Given the description of an element on the screen output the (x, y) to click on. 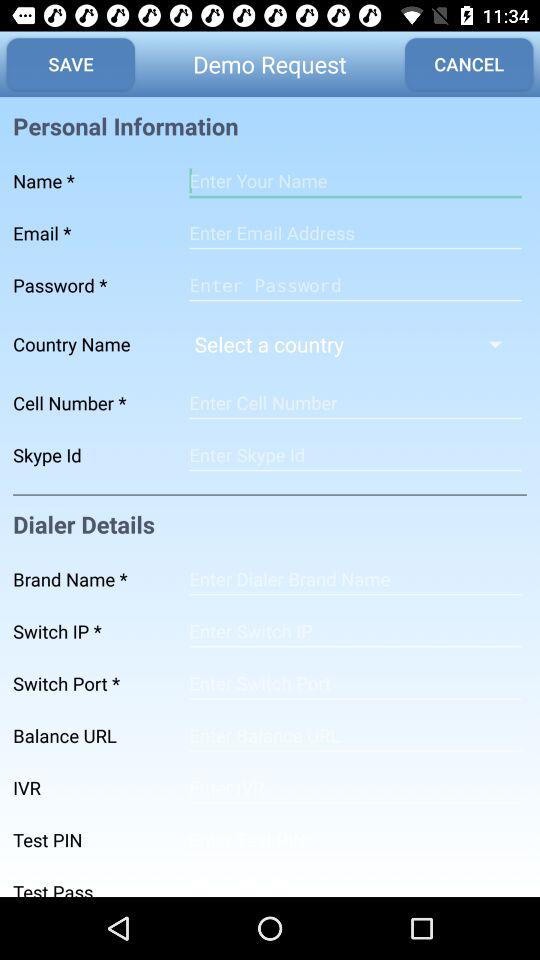
ivr option field (355, 788)
